Given the description of an element on the screen output the (x, y) to click on. 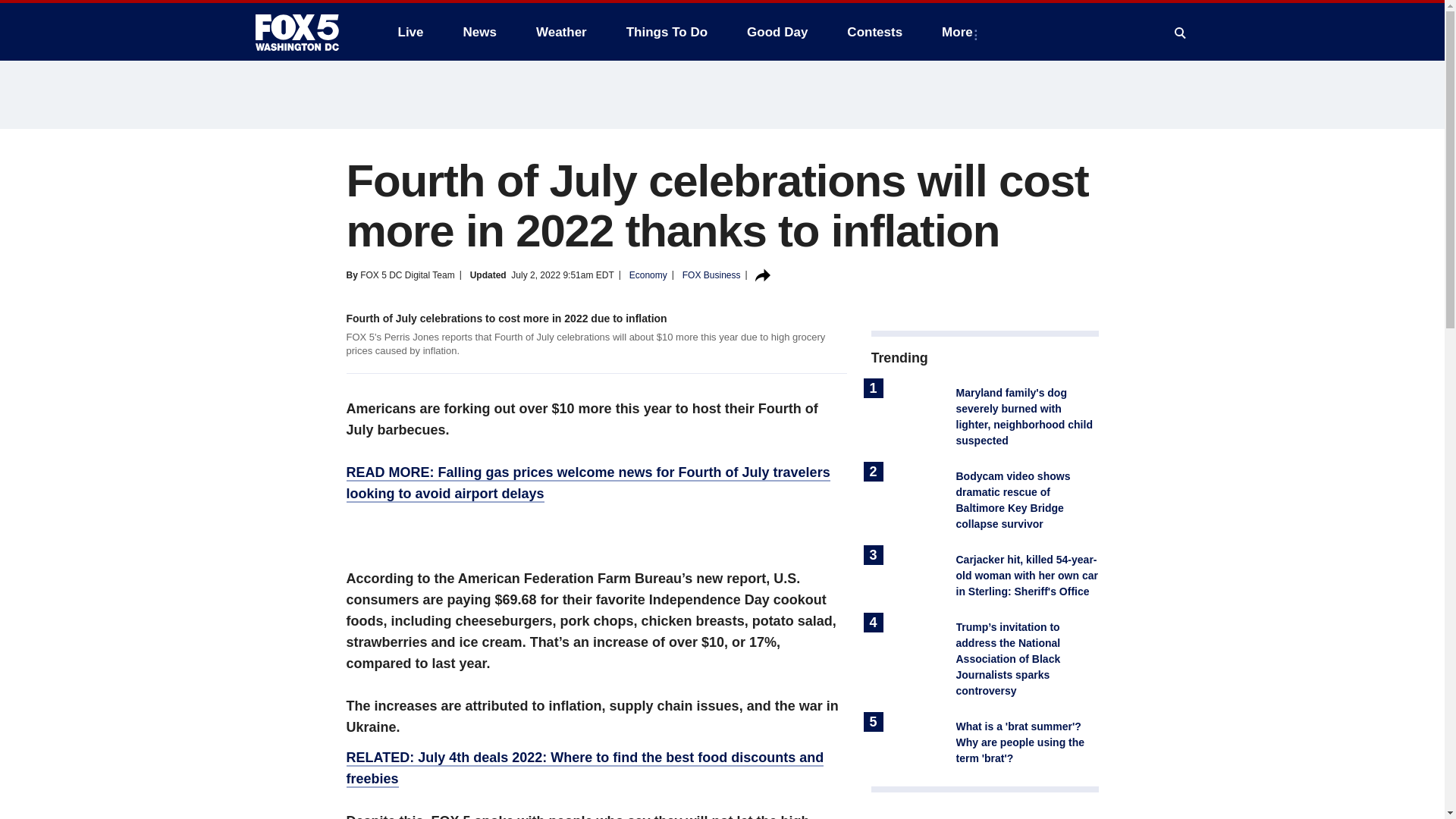
Contests (874, 32)
Live (410, 32)
Weather (561, 32)
Things To Do (666, 32)
More (960, 32)
Good Day (777, 32)
News (479, 32)
